Given the description of an element on the screen output the (x, y) to click on. 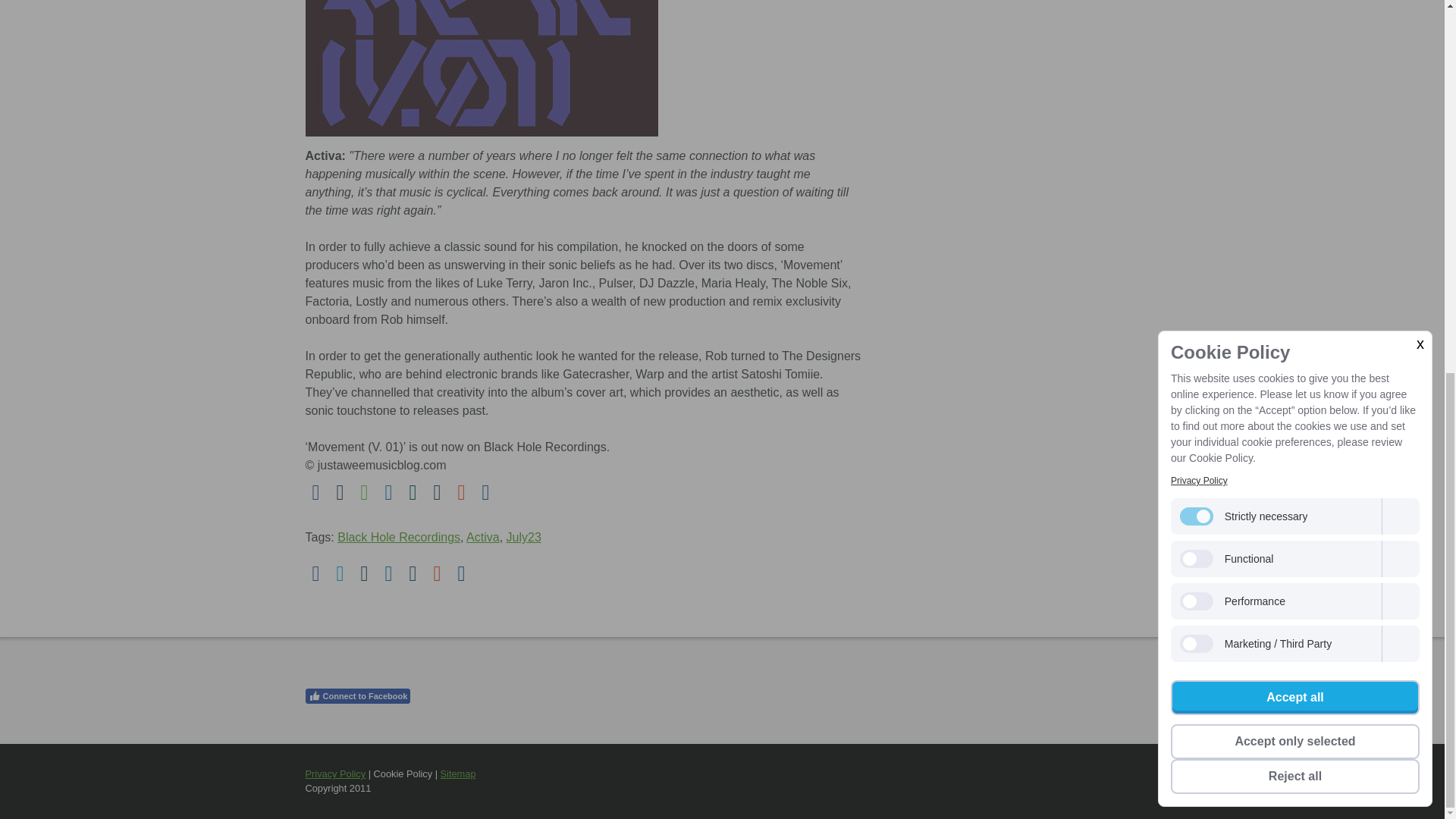
LinkedIn (387, 573)
Black Hole Recordings (398, 536)
Digg (485, 492)
Email (363, 573)
Activa (482, 536)
LinkedIn (387, 492)
July23 (523, 536)
Email (339, 492)
Twitter (339, 573)
Facebook (315, 573)
